Given the description of an element on the screen output the (x, y) to click on. 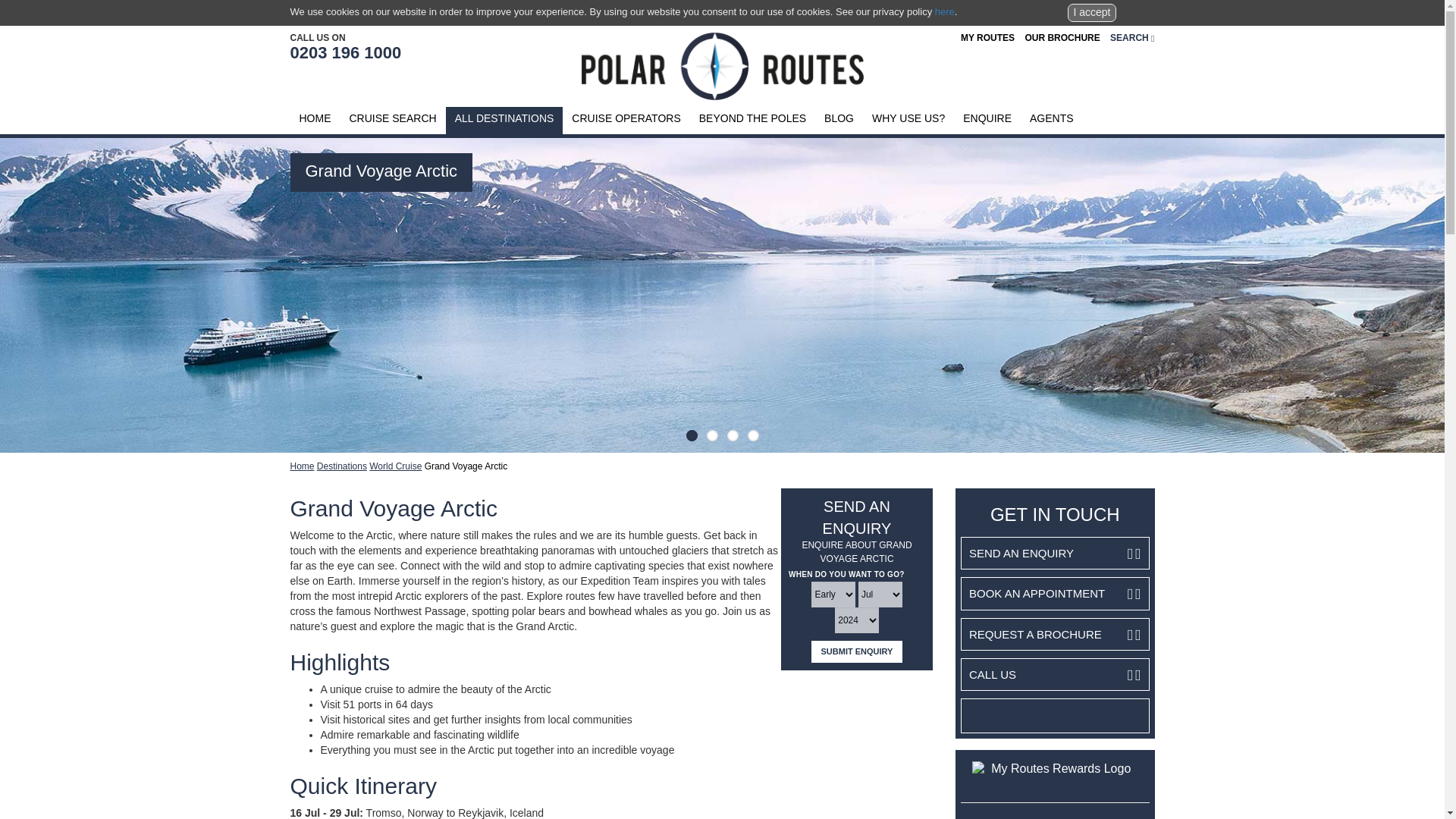
SEARCH (1131, 37)
CRUISE OPERATORS (625, 120)
Customer reviews powered by Trustpilot (1054, 715)
OUR BROCHURE (1062, 37)
ALL DESTINATIONS (504, 120)
0203 196 1000 (345, 52)
MY ROUTES (987, 37)
BLOG (839, 120)
My Routes Rewards Logo (1055, 771)
here (944, 11)
I accept (1091, 13)
CRUISE SEARCH (392, 120)
HOME (314, 120)
